Given the description of an element on the screen output the (x, y) to click on. 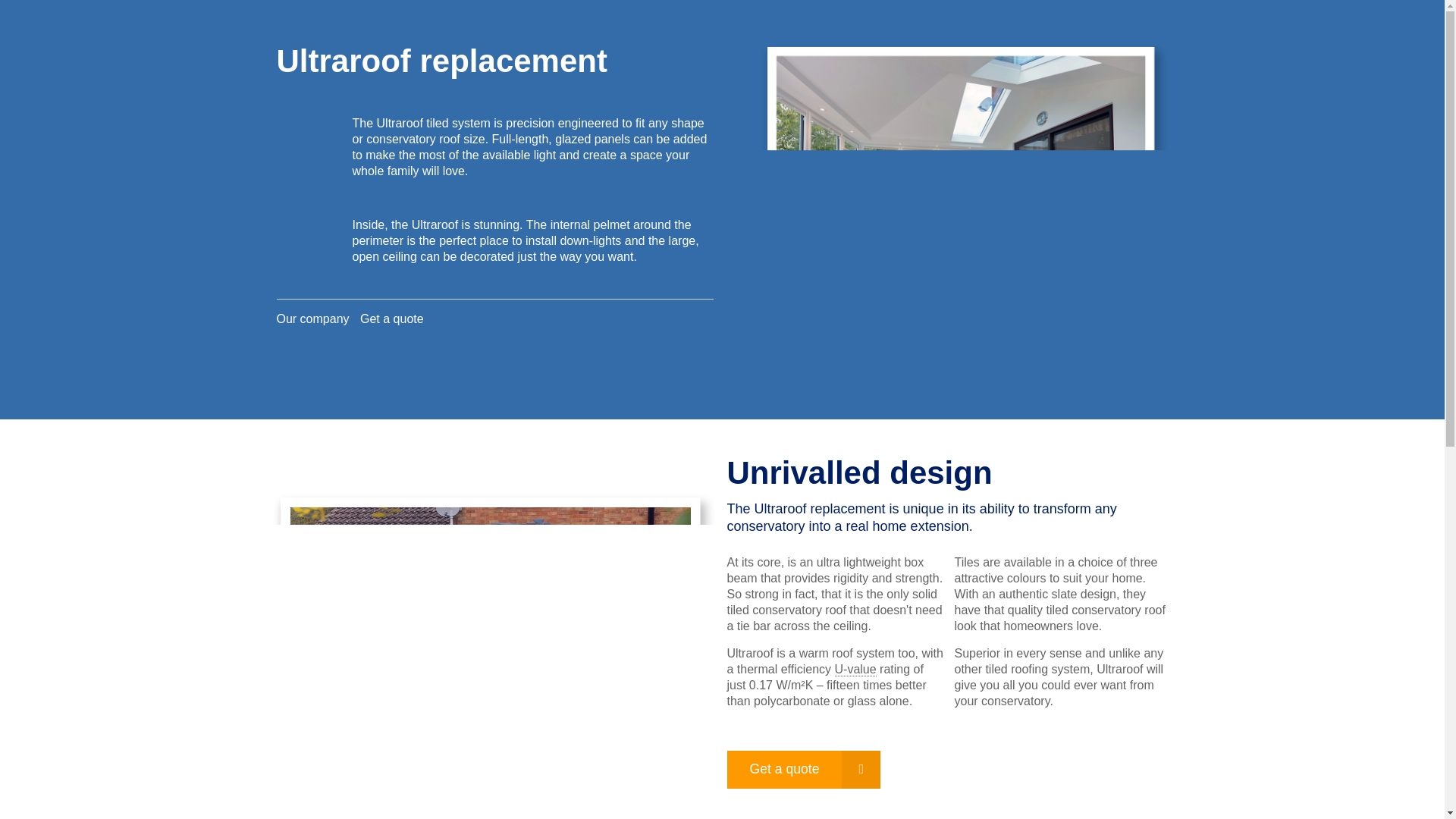
Our company (312, 318)
Get a quote (391, 318)
Get a quote (803, 769)
